Given the description of an element on the screen output the (x, y) to click on. 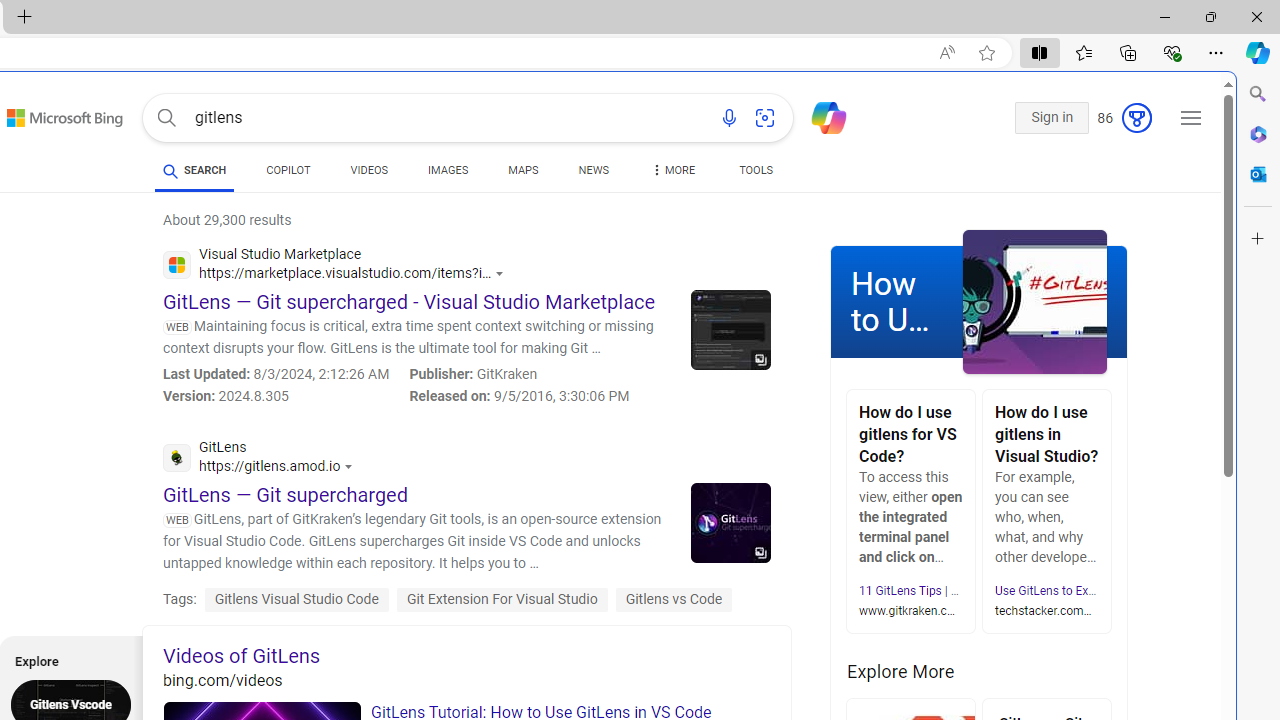
Chat (820, 116)
Publisher: GitKraken (519, 374)
Version: 2024.8.305 (276, 396)
Settings and quick links (1190, 117)
Visual Studio Marketplace (338, 267)
Use GitLens to Explore your Git History in VS Code (1128, 590)
MORE (672, 173)
11 GitLens Tips | Learn How to Use GitLens in VS Code - (1006, 590)
Search button (166, 117)
